Given the description of an element on the screen output the (x, y) to click on. 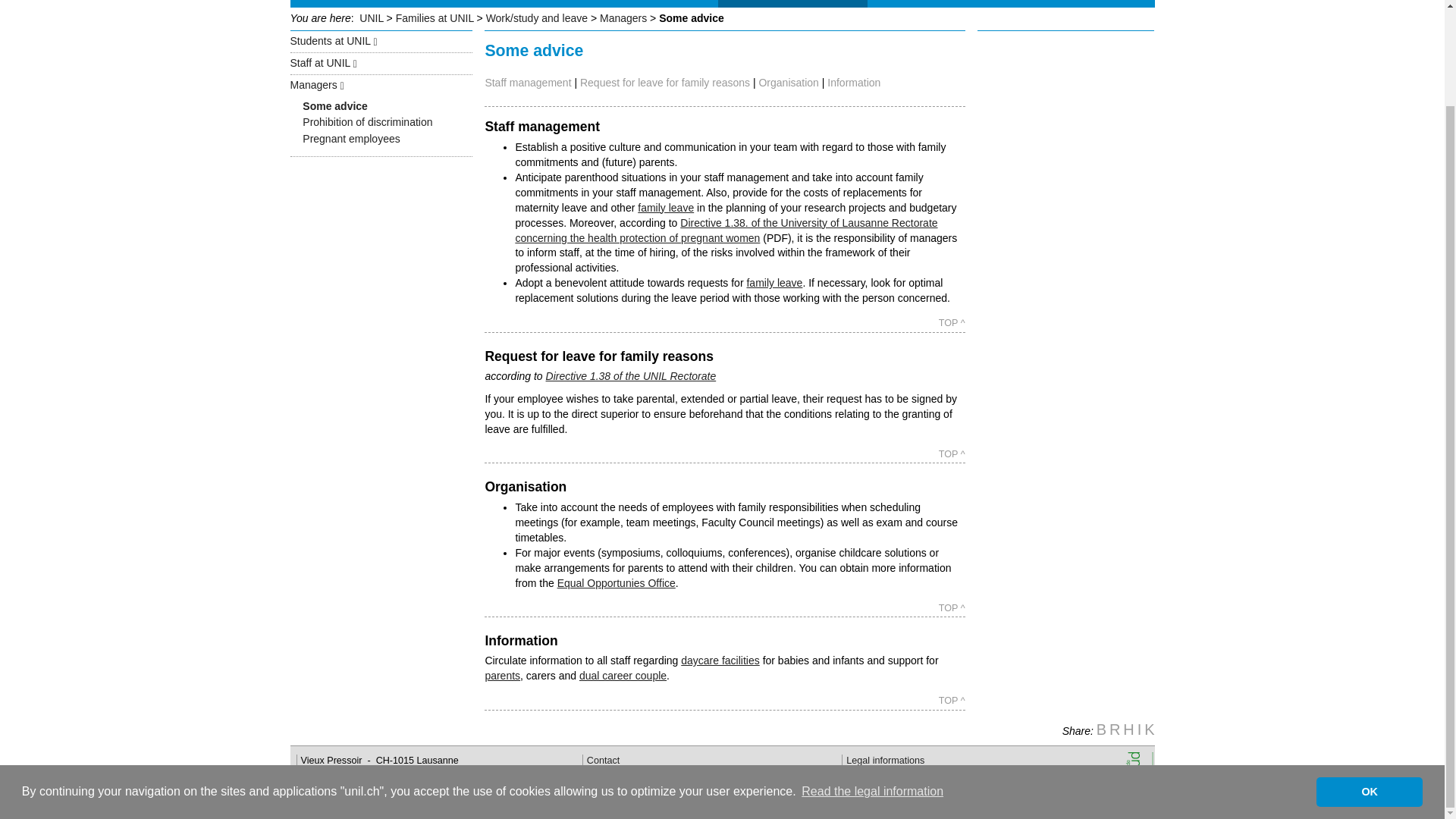
Family Carers (665, 3)
Couple and mobility (544, 3)
Read the legal information (871, 680)
OK (1369, 680)
Parents and children (401, 3)
